Given the description of an element on the screen output the (x, y) to click on. 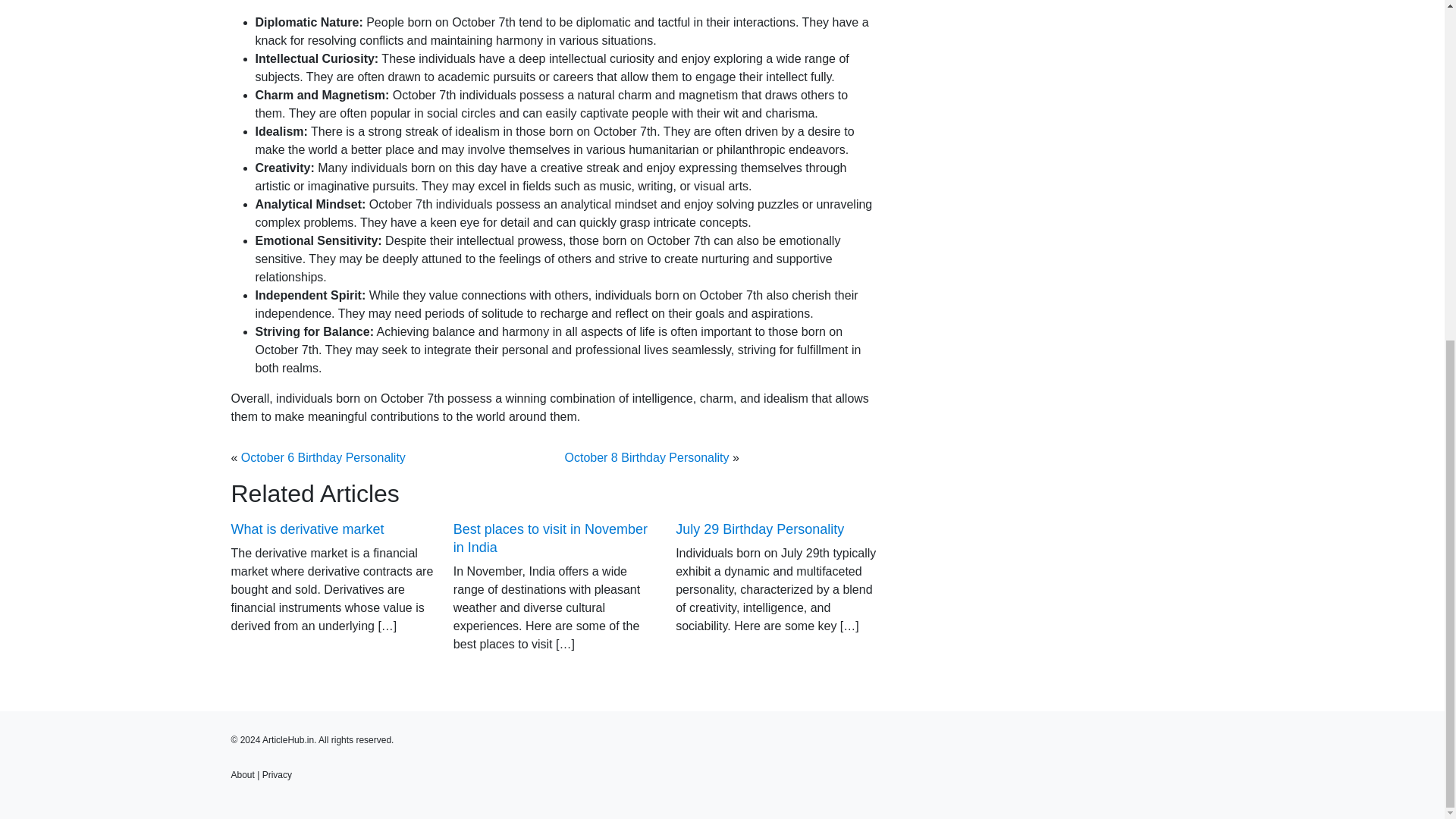
About (241, 774)
Privacy (277, 774)
October 6 Birthday Personality (323, 457)
October 8 Birthday Personality (646, 457)
Best places to visit in November in India (549, 538)
July 29 Birthday Personality (759, 529)
What is derivative market (307, 529)
